Given the description of an element on the screen output the (x, y) to click on. 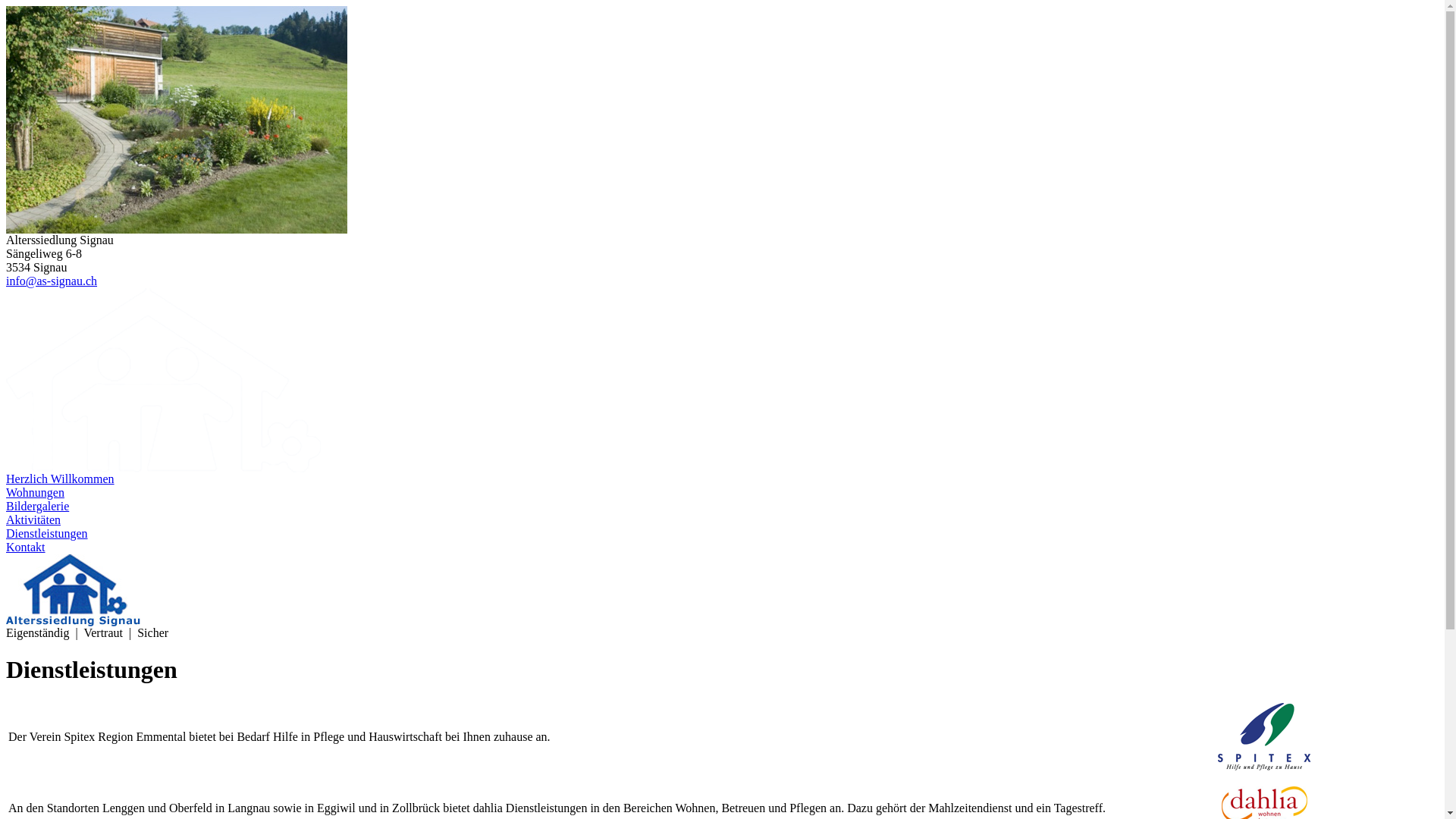
Bildergalerie Element type: text (37, 505)
Herzlich Willkommen Element type: text (60, 478)
Wohnungen Element type: text (35, 492)
Kontakt Element type: text (25, 546)
Dienstleistungen Element type: text (46, 533)
info@as-signau.ch Element type: text (51, 280)
